Given the description of an element on the screen output the (x, y) to click on. 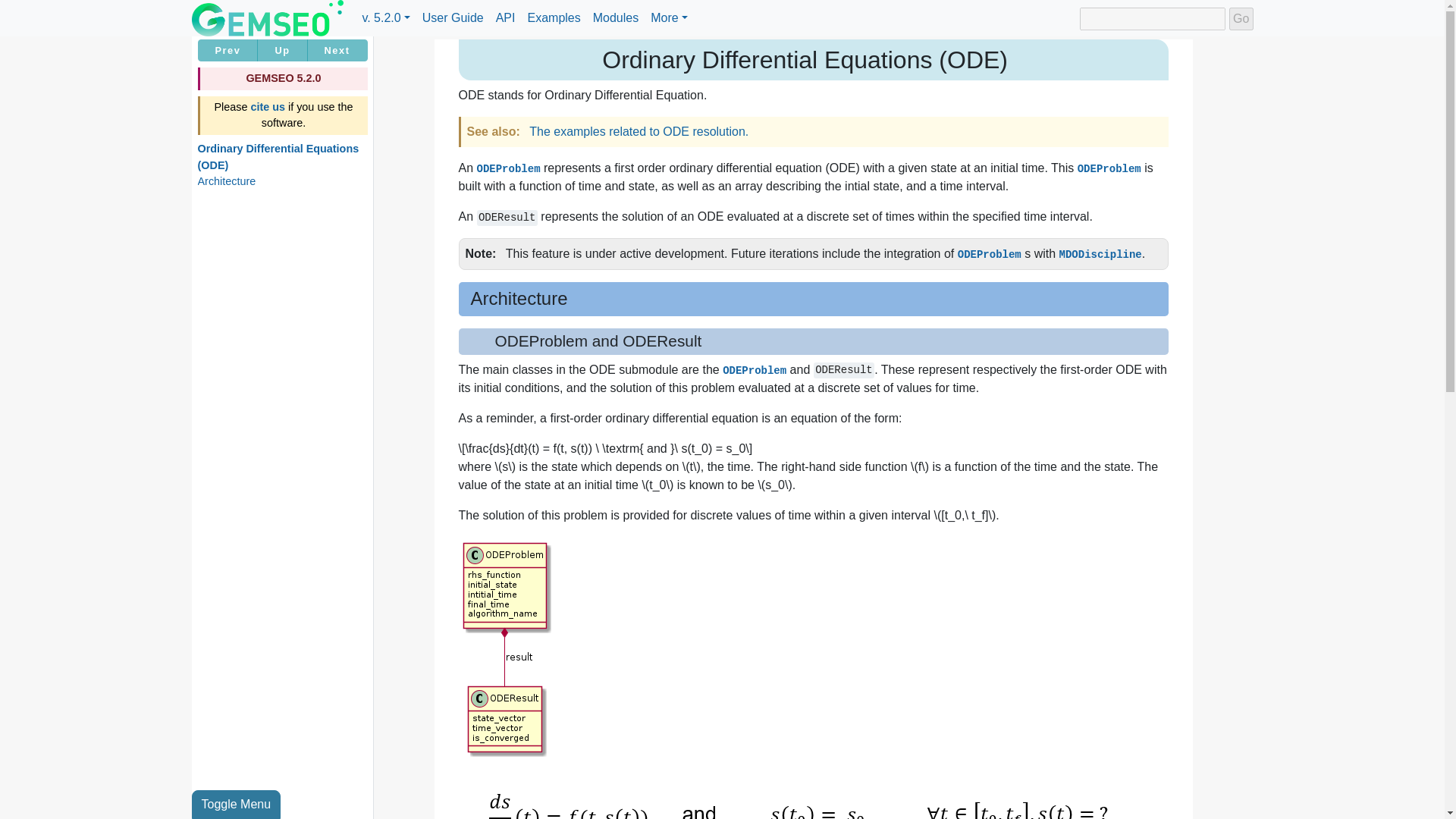
Modules (615, 18)
v. 5.2.0 (384, 18)
Up (282, 50)
ODEProblem (508, 167)
User Guide (452, 18)
More (669, 18)
Go (1240, 18)
gemseo.core.discipline.MDODiscipline (1100, 253)
Go (1240, 18)
Next (337, 50)
Go (1240, 18)
The examples related to ODE resolution. (638, 131)
Architecture (226, 181)
Examples (553, 18)
API (505, 18)
